Given the description of an element on the screen output the (x, y) to click on. 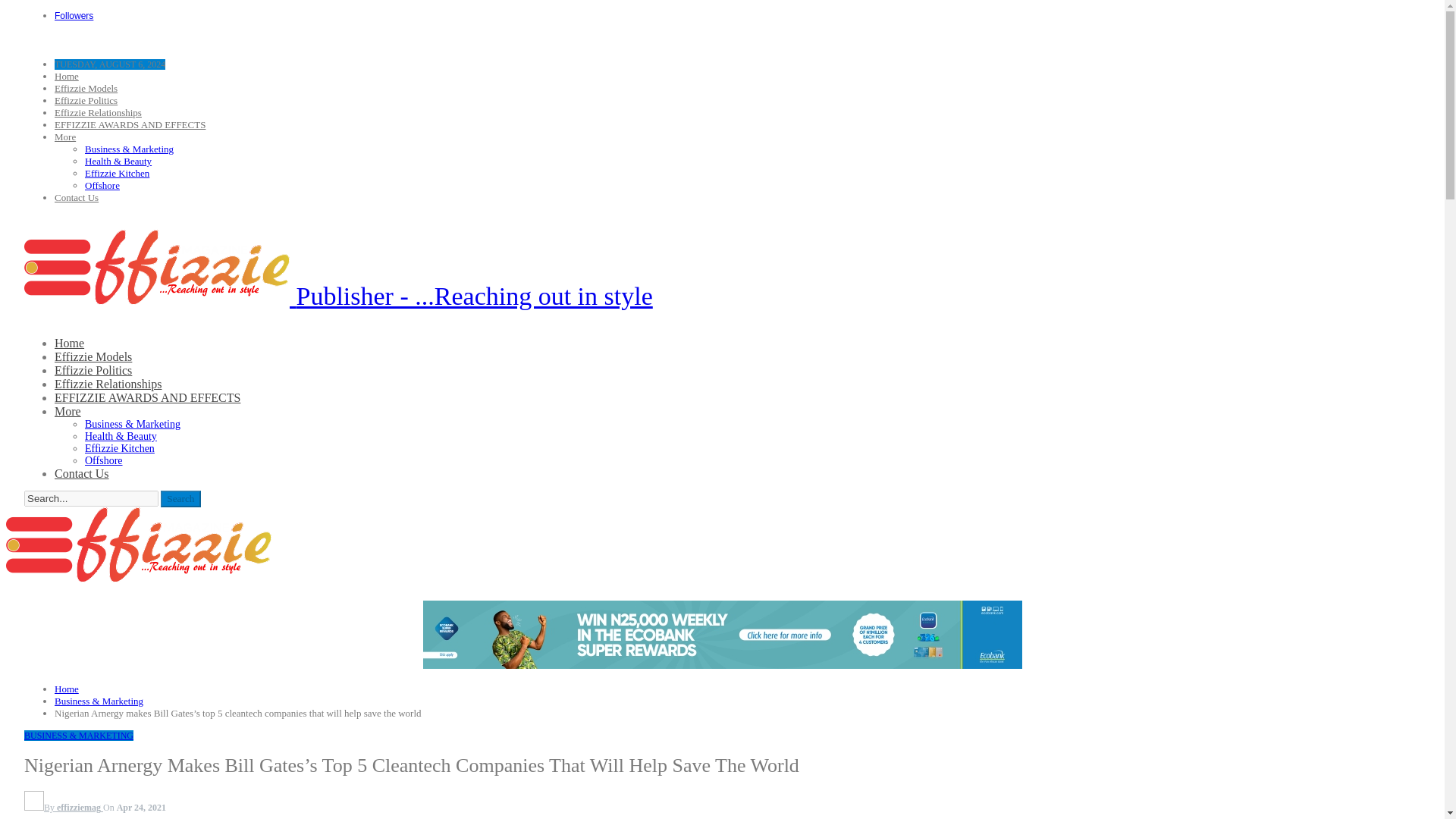
Search for: (91, 498)
Search (180, 498)
EFFIZZIE AWARDS AND EFFECTS (147, 397)
Home (69, 342)
Offshore (101, 184)
Effizzie Kitchen (116, 173)
Browse Author Articles (63, 807)
Effizzie Relationships (108, 383)
Effizzie Politics (93, 369)
Contact Us (77, 197)
